Given the description of an element on the screen output the (x, y) to click on. 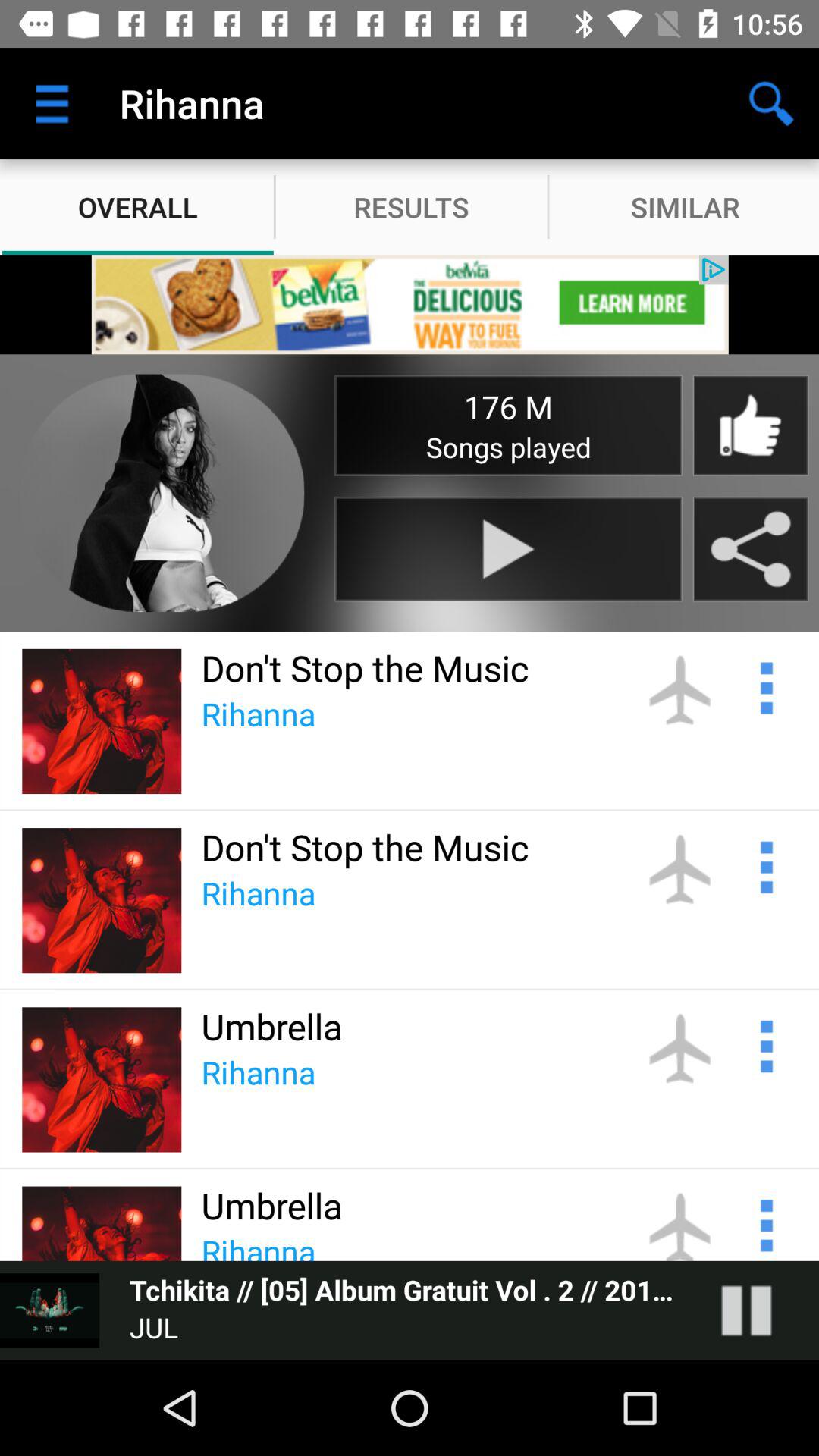
go to play button (508, 548)
